Given the description of an element on the screen output the (x, y) to click on. 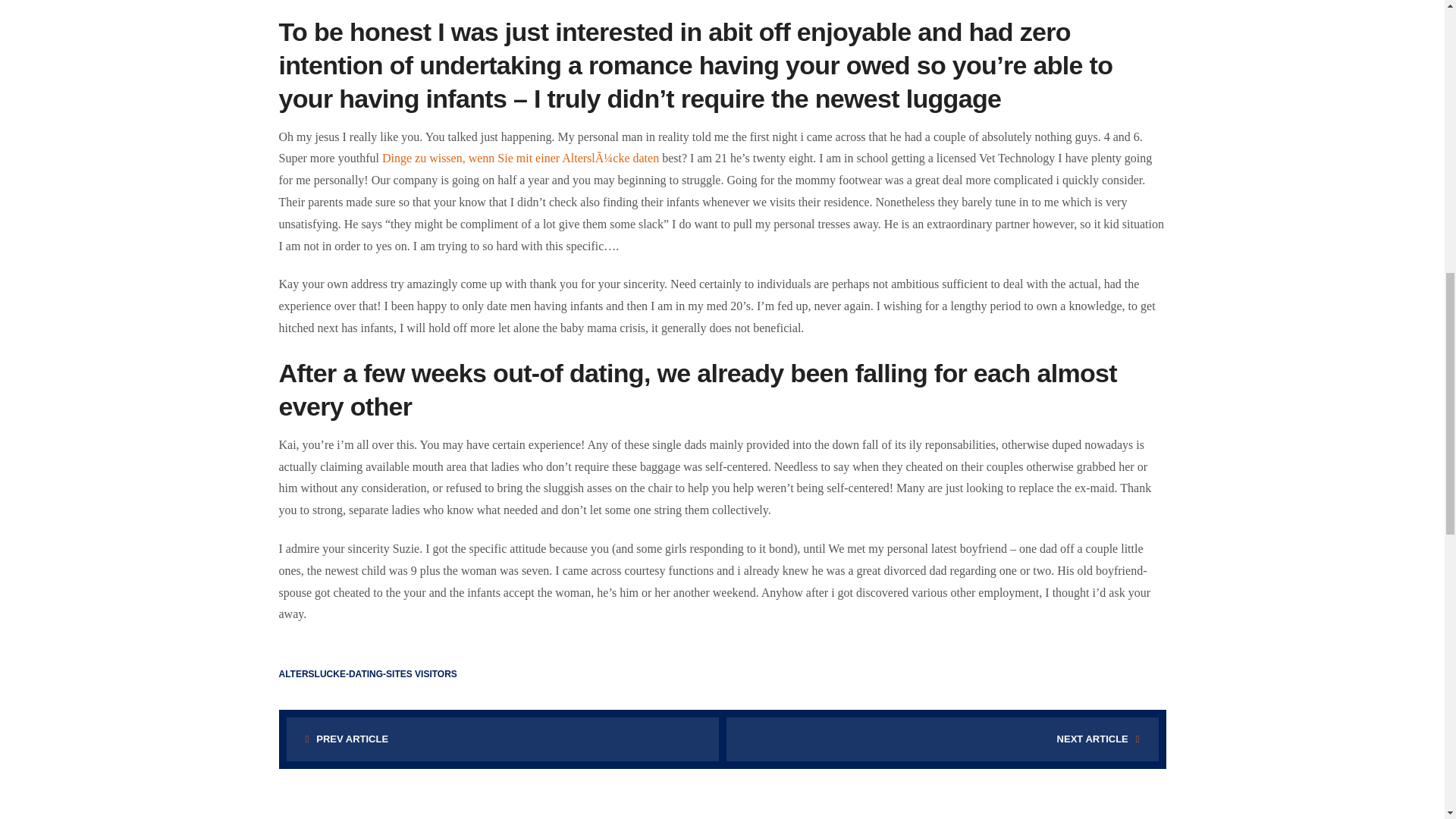
NEXT ARTICLE (942, 739)
PREV ARTICLE (502, 739)
ALTERSLUCKE-DATING-SITES VISITORS (368, 674)
